Given the description of an element on the screen output the (x, y) to click on. 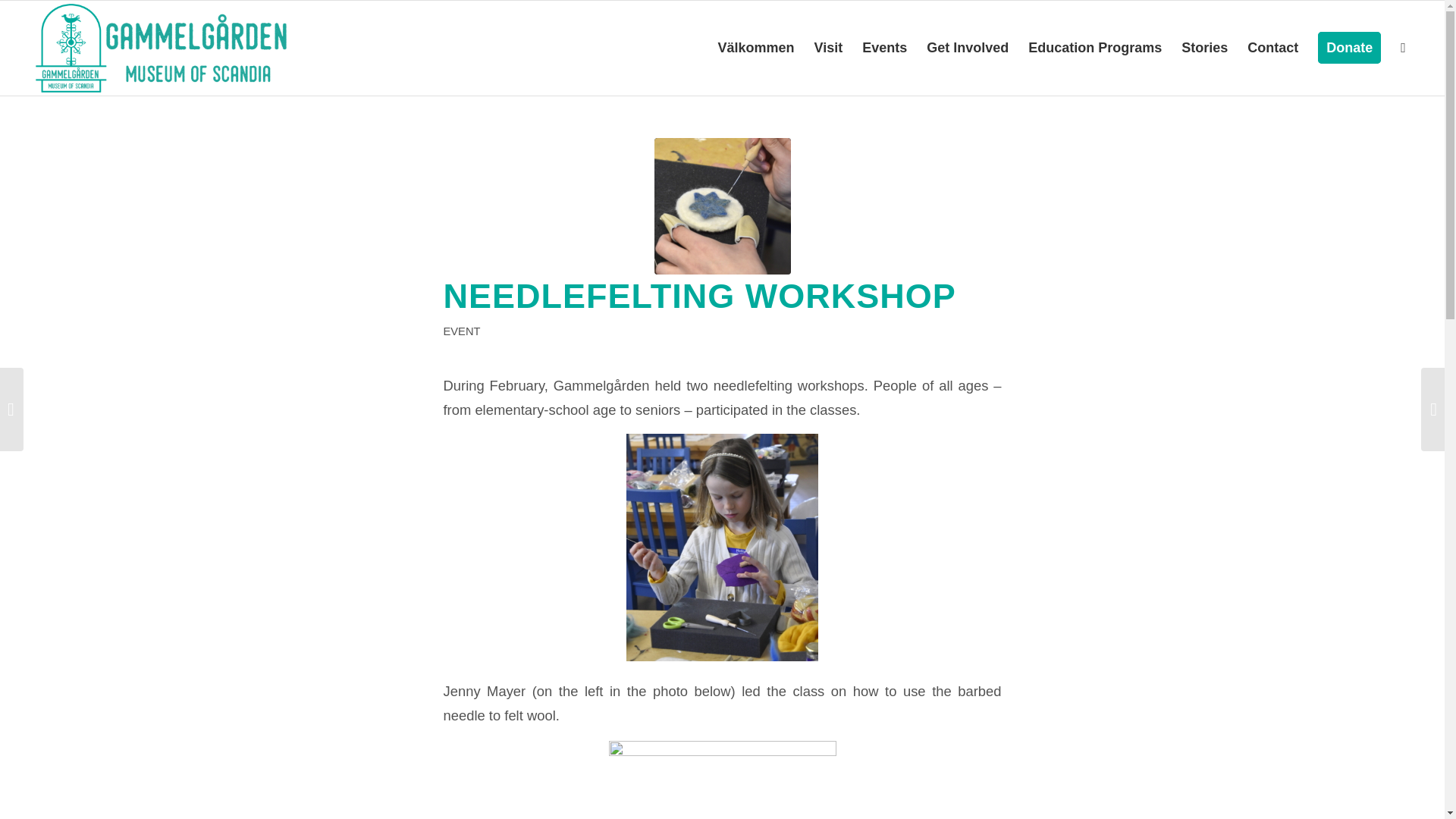
EVENT (461, 330)
Education Programs (1094, 47)
Get Involved (967, 47)
